Given the description of an element on the screen output the (x, y) to click on. 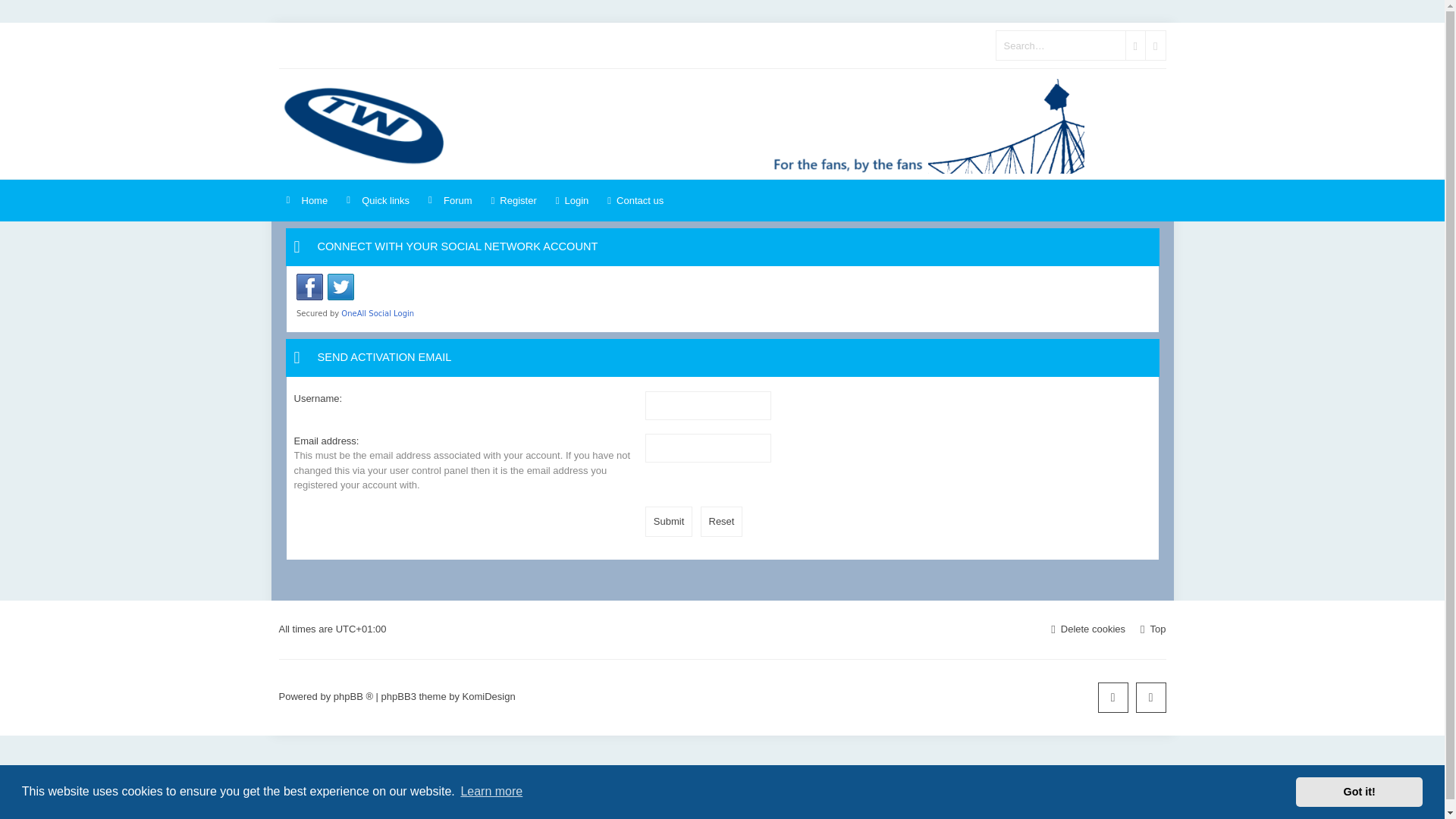
phpBB3 theme by KomiDesign (489, 696)
Subway (684, 123)
Login (572, 200)
Register (513, 200)
Search for keywords (1060, 45)
the-wanderer.co.uk (684, 123)
Follow us on twitter (1150, 697)
Follow us on facebook (1112, 697)
Home (307, 200)
Forum (450, 200)
Submit (669, 521)
Submit (669, 521)
Board index (307, 200)
Delete cookies (1093, 629)
Quick links (377, 200)
